Given the description of an element on the screen output the (x, y) to click on. 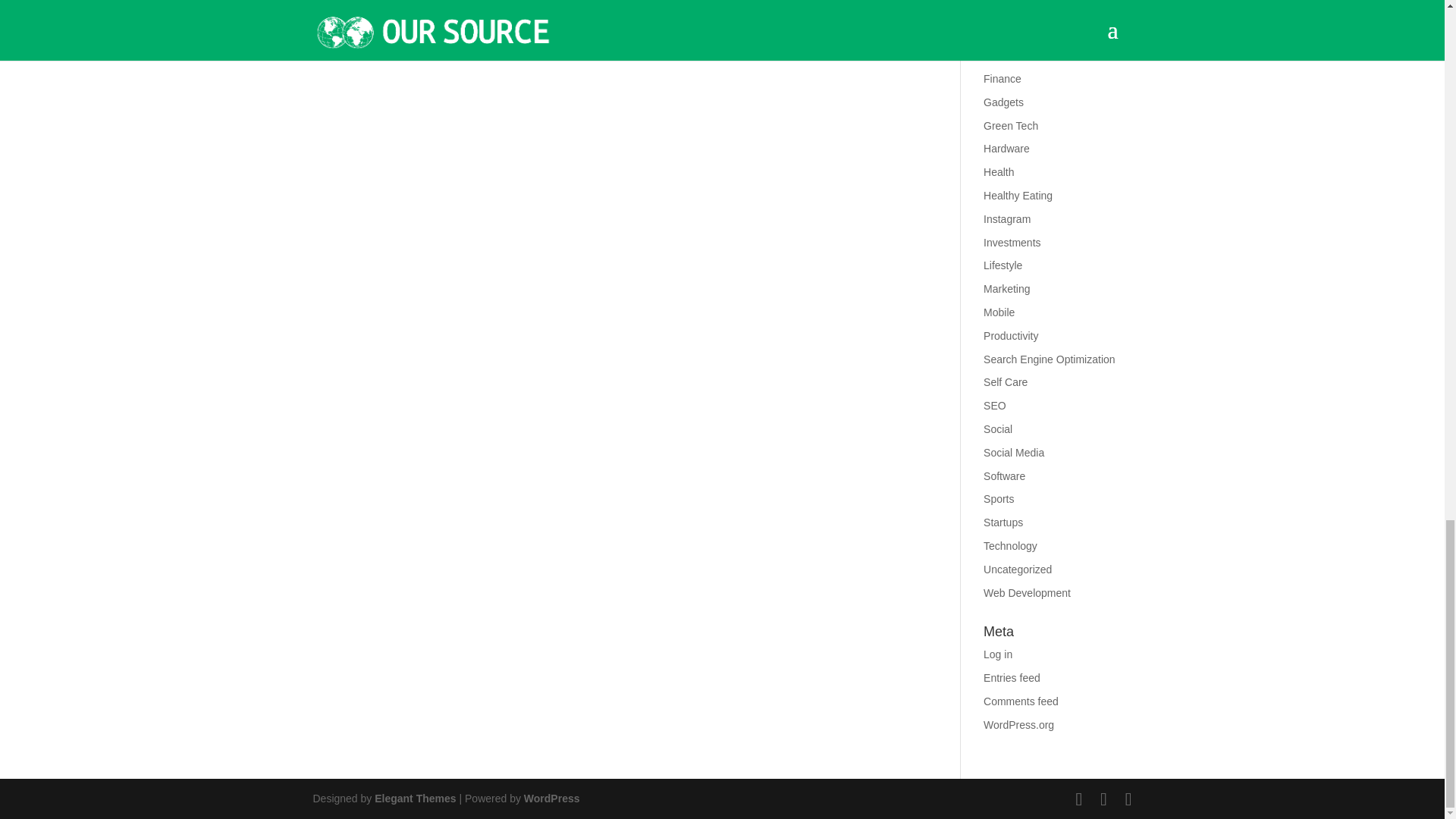
Premium WordPress Themes (414, 798)
